Given the description of an element on the screen output the (x, y) to click on. 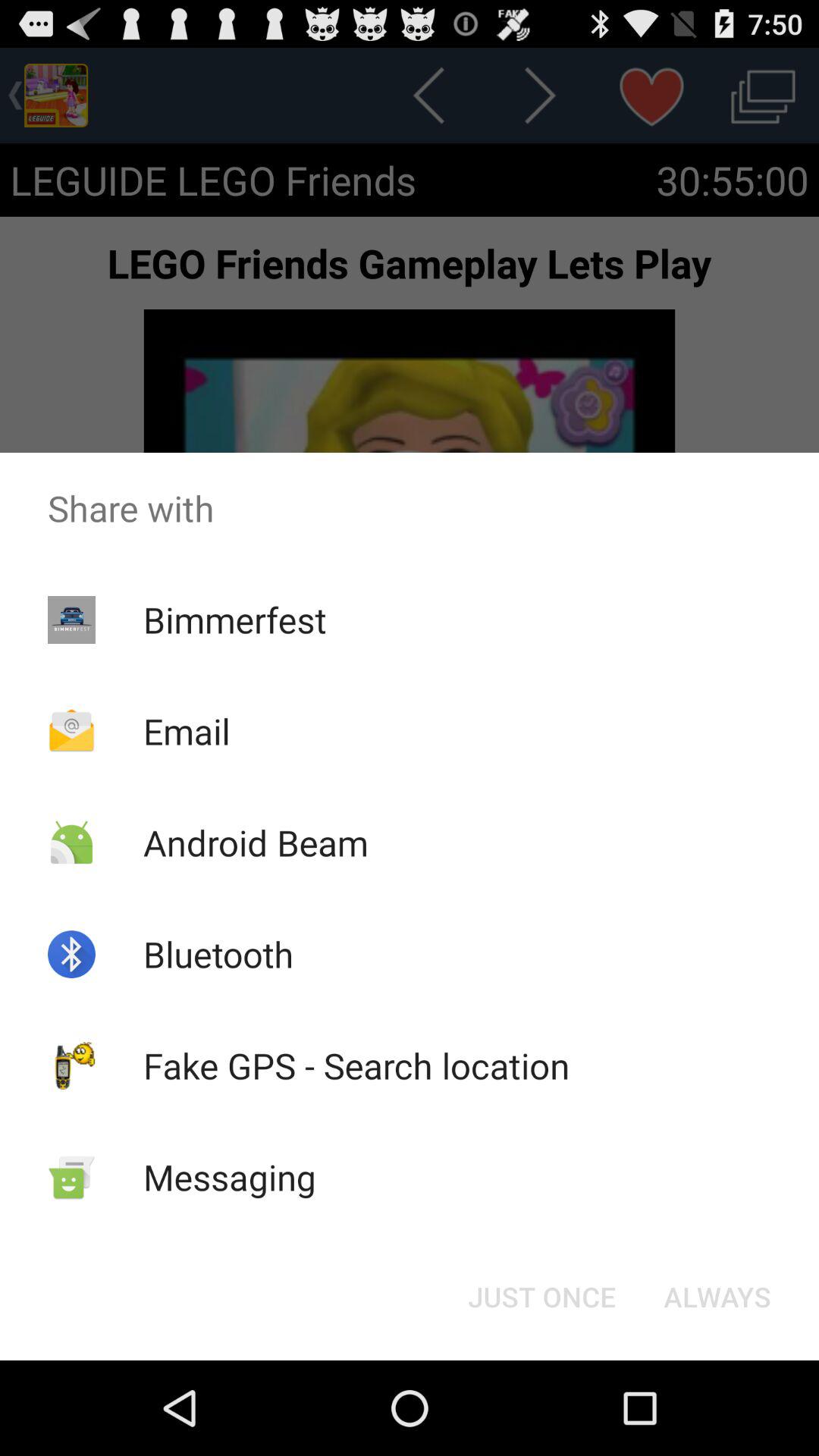
swipe until the android beam item (255, 842)
